Given the description of an element on the screen output the (x, y) to click on. 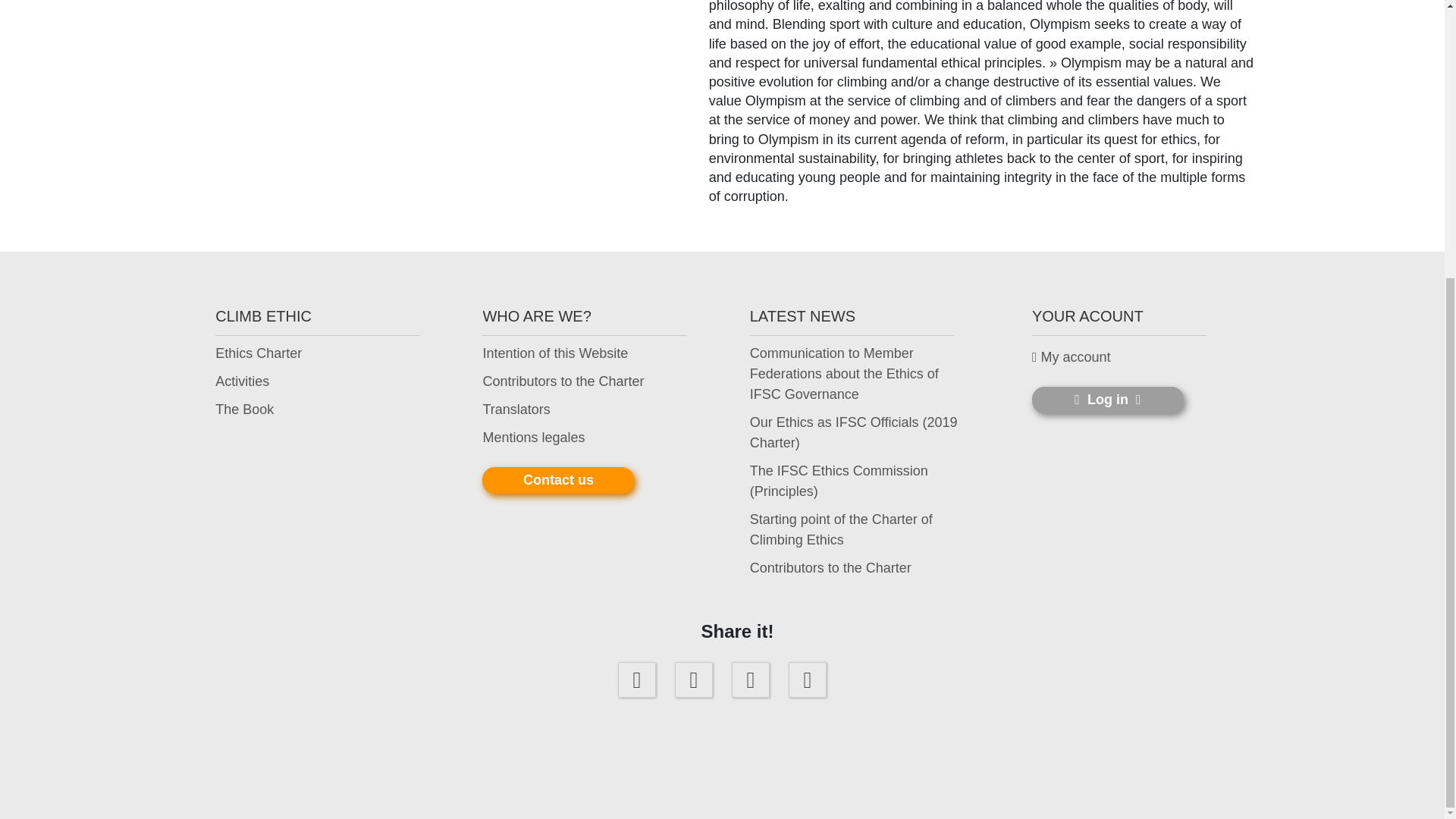
Contact us (557, 479)
Activities (242, 381)
Article updated on 19 January 2021 (855, 481)
Starting point of the Charter of Climbing Ethics (855, 529)
The Book (244, 409)
Article updated on 19 January 2021 (855, 432)
Article updated on 19 January 2021 (830, 567)
Ethics Charter (258, 353)
Activities (242, 381)
Contributors to the Charter (562, 381)
Who are we? (554, 353)
Who are we? (562, 381)
Who are we? (515, 409)
contact (557, 479)
